Given the description of an element on the screen output the (x, y) to click on. 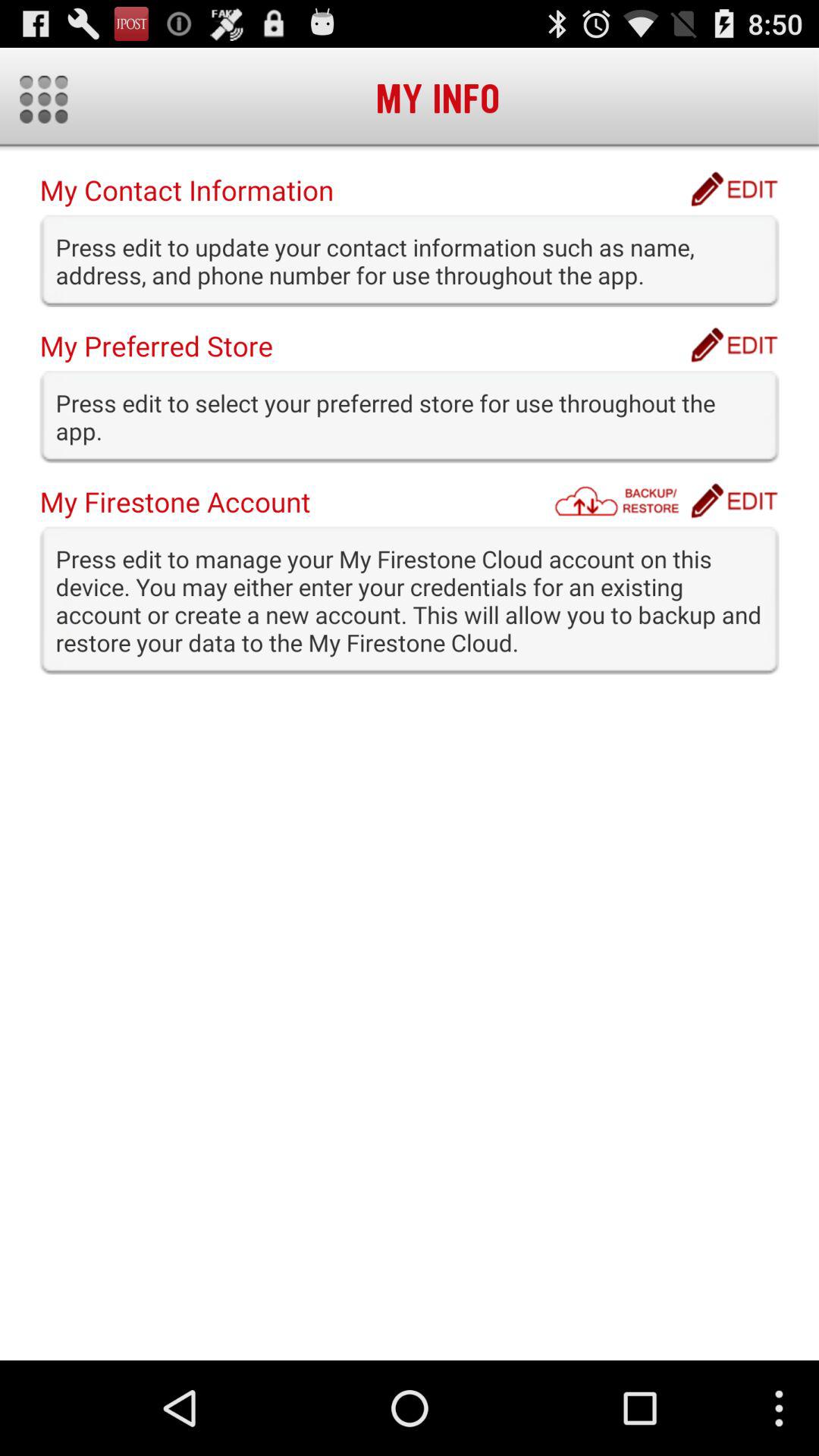
turn on app next to my firestone account icon (621, 500)
